Given the description of an element on the screen output the (x, y) to click on. 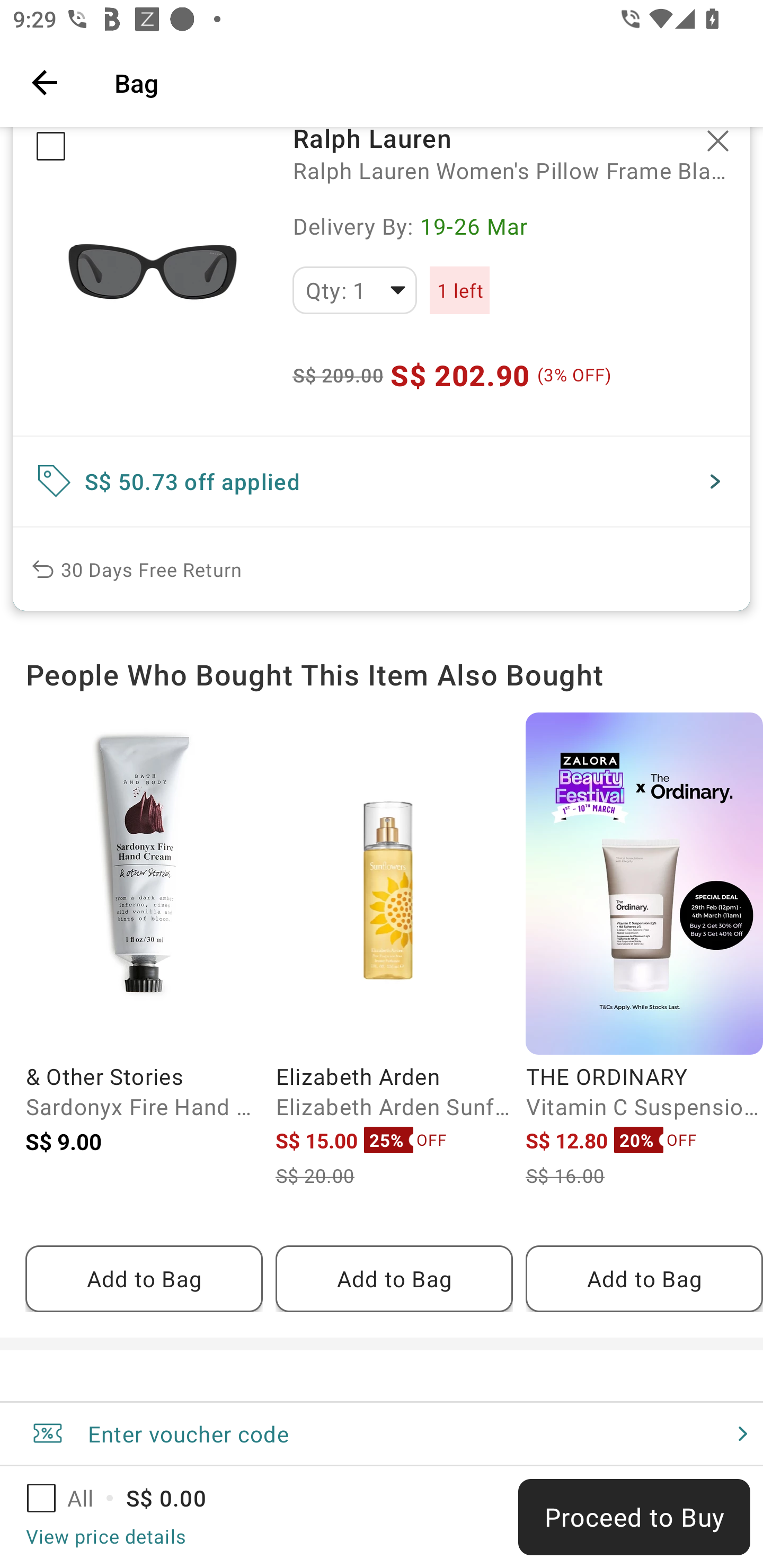
Navigate up (44, 82)
Bag (426, 82)
Qty: 1 (354, 289)
S$ 50.73 off applied (381, 481)
Add to Bag (143, 1278)
Add to Bag (393, 1278)
Add to Bag (644, 1278)
Enter voucher code (381, 1433)
All (72, 1497)
Proceed to Buy (634, 1516)
View price details (105, 1535)
